Given the description of an element on the screen output the (x, y) to click on. 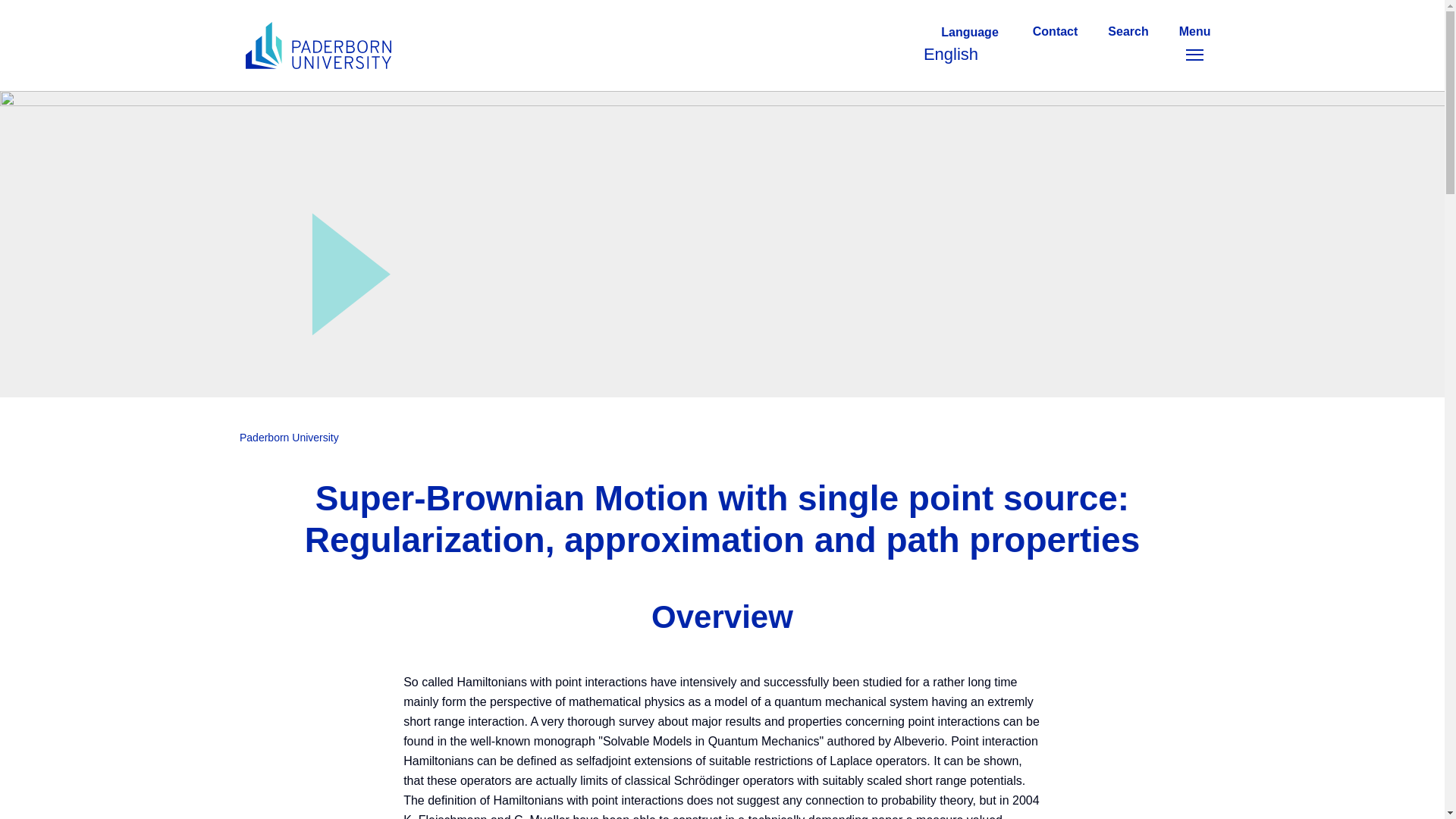
Search (1128, 45)
Paderborn University (289, 437)
To the homepage (318, 45)
Menu (967, 44)
Contact (1194, 45)
